Given the description of an element on the screen output the (x, y) to click on. 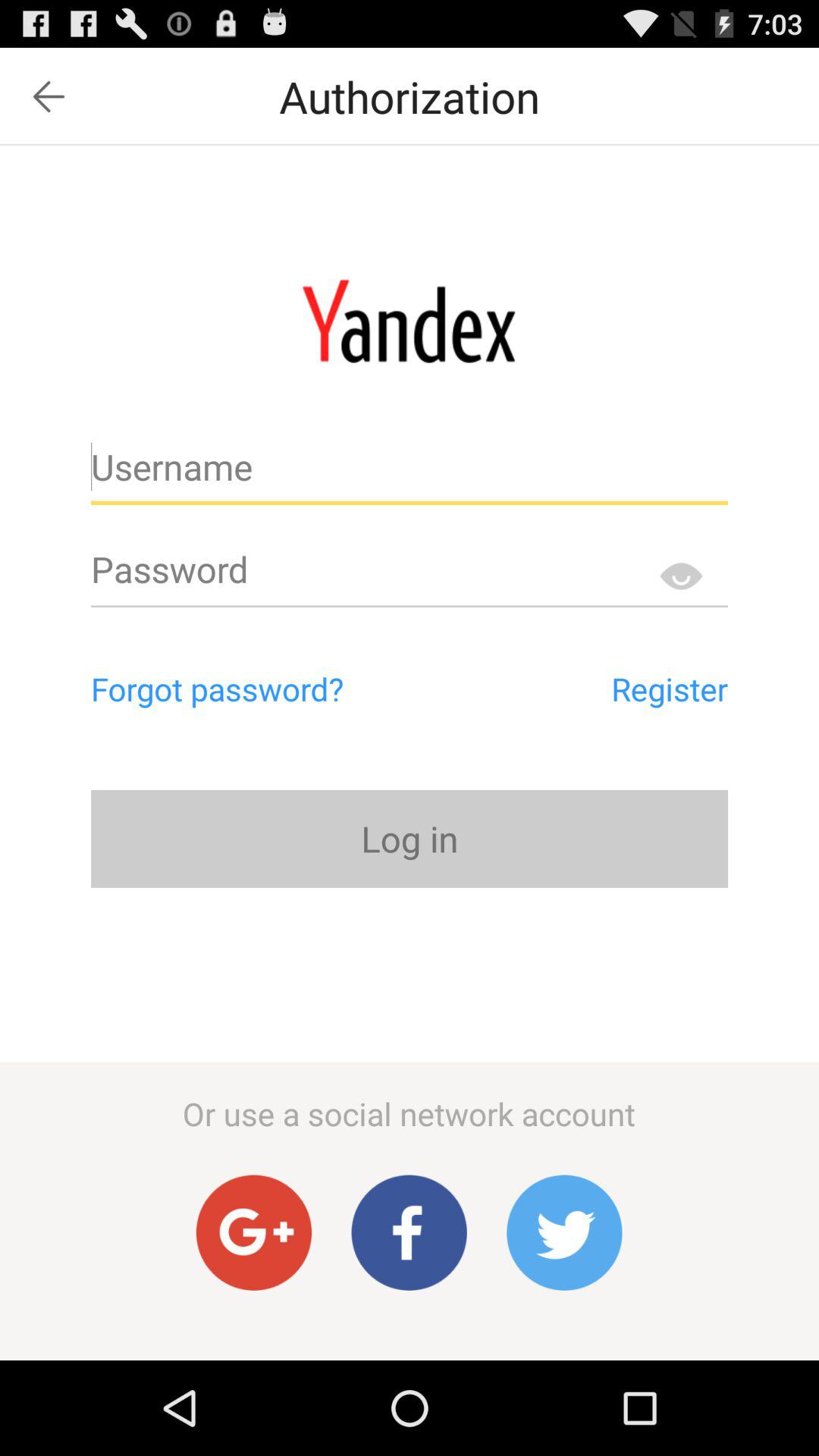
open item to the left of the register icon (282, 688)
